Given the description of an element on the screen output the (x, y) to click on. 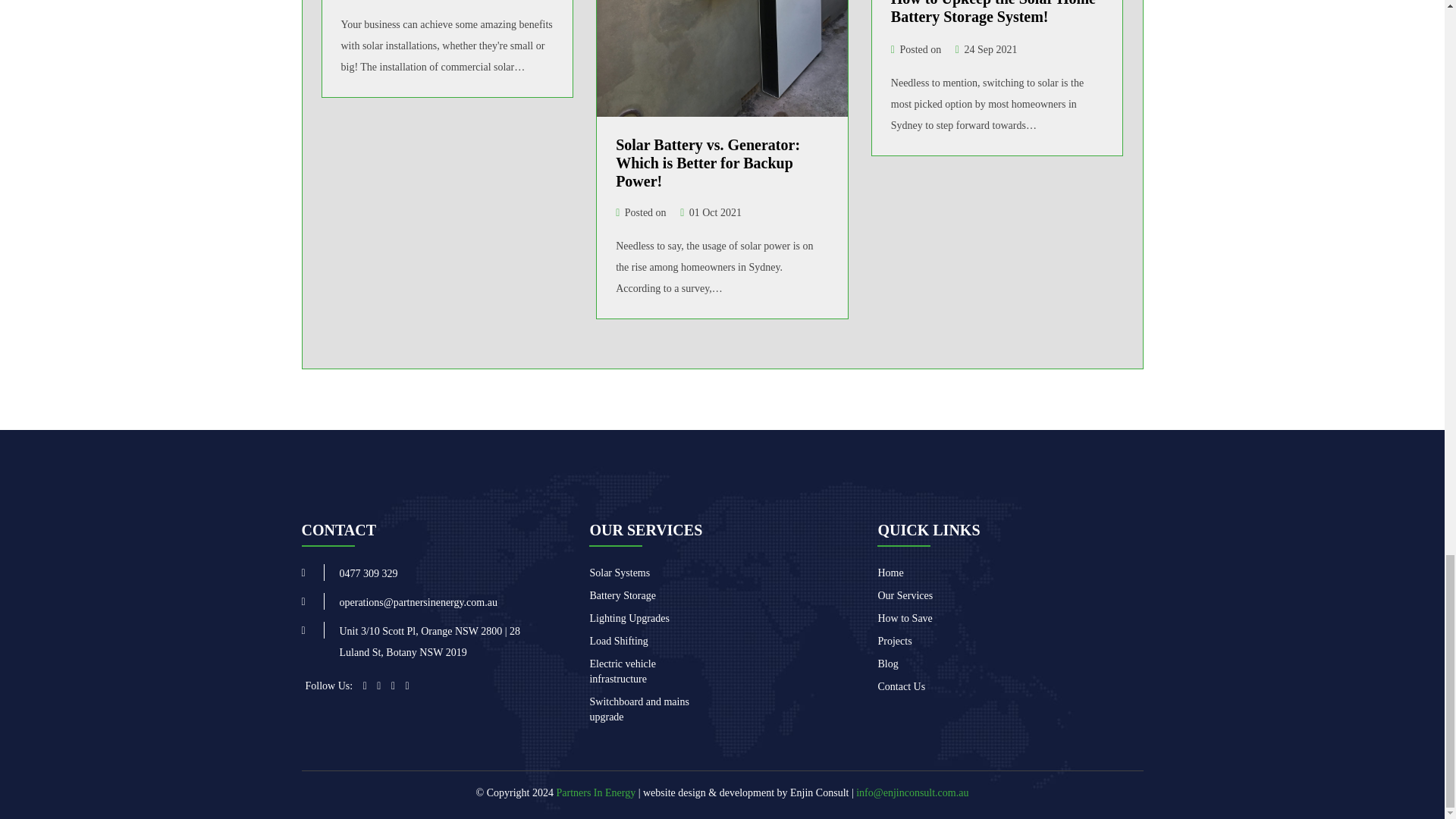
How to Upkeep the Solar Home Battery Storage System! (993, 12)
Electric vehicle infrastructure (622, 671)
Lighting Upgrades (628, 618)
0477 309 329 (368, 573)
Solar Systems (619, 572)
Our Services (905, 595)
How to Save (904, 618)
Switchboard and mains upgrade (638, 709)
Projects (894, 641)
Home (889, 572)
Battery Storage (622, 595)
Blog (887, 663)
Load Shifting (618, 641)
